Given the description of an element on the screen output the (x, y) to click on. 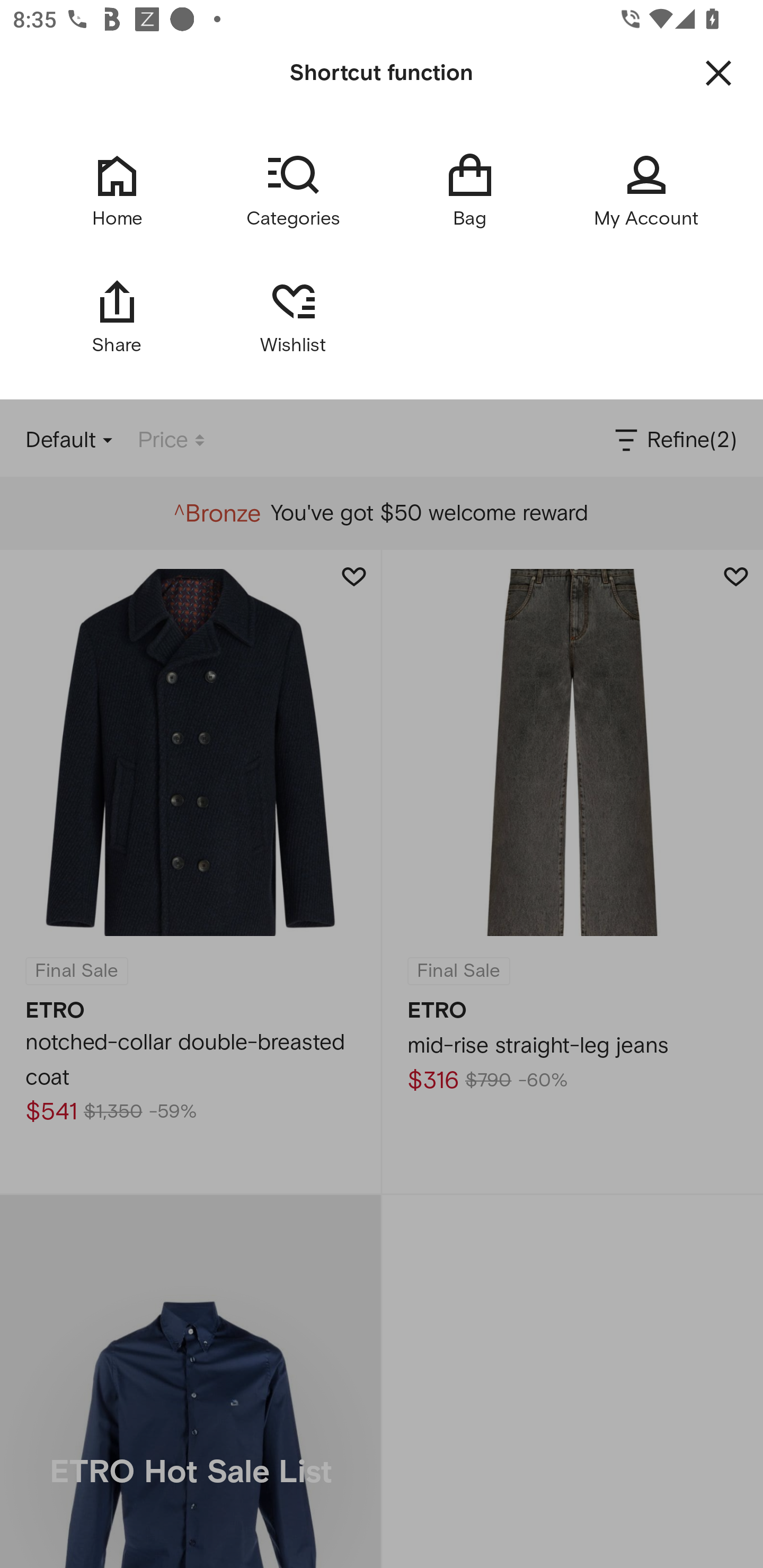
Home (116, 190)
Categories (293, 190)
Bag (469, 190)
My Account (645, 190)
Share (116, 316)
Wishlist (293, 316)
